Given the description of an element on the screen output the (x, y) to click on. 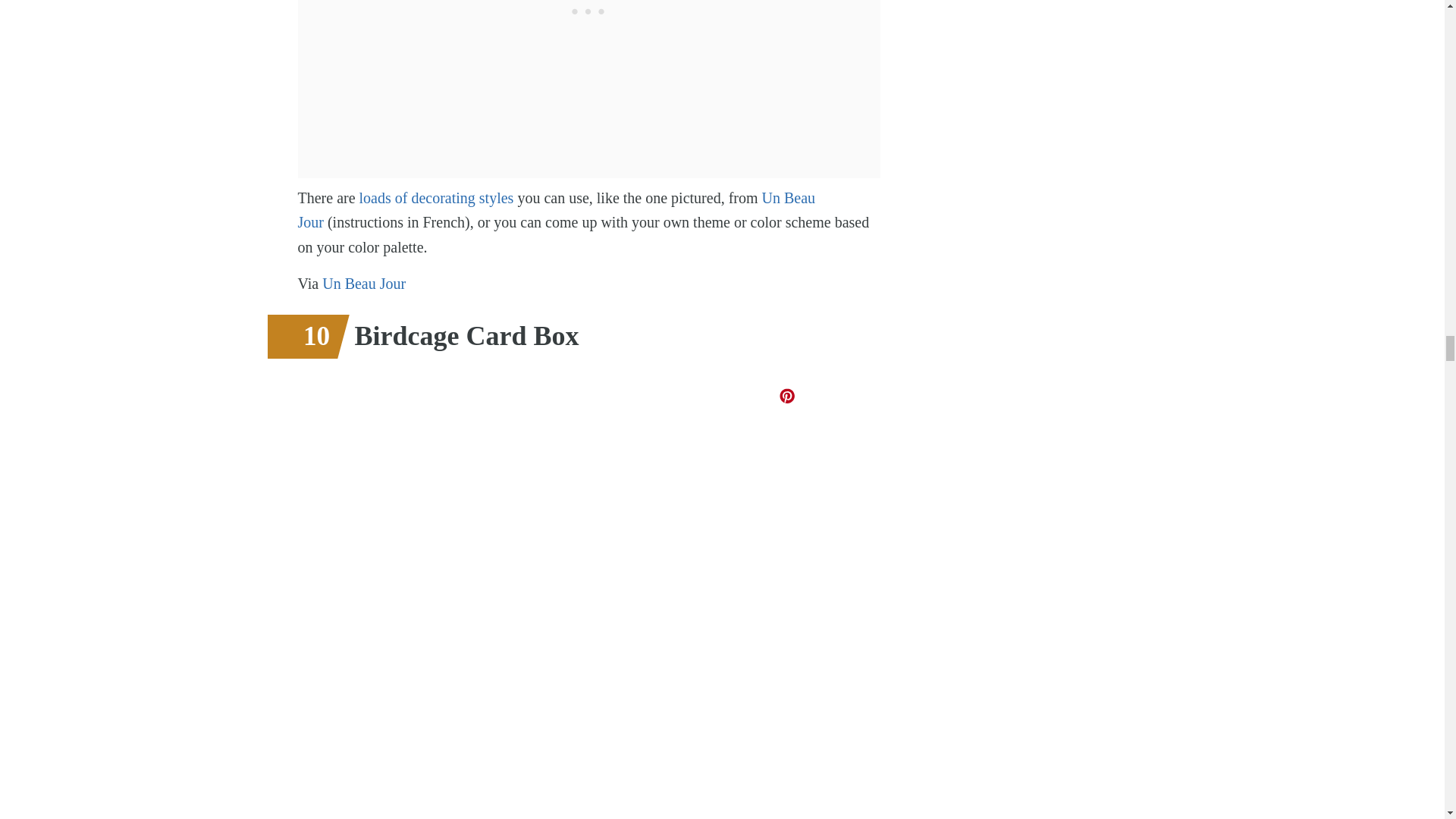
Un Beau Jour (363, 283)
 Un Beau Jour (556, 209)
 loads of decorating styles (434, 197)
